Given the description of an element on the screen output the (x, y) to click on. 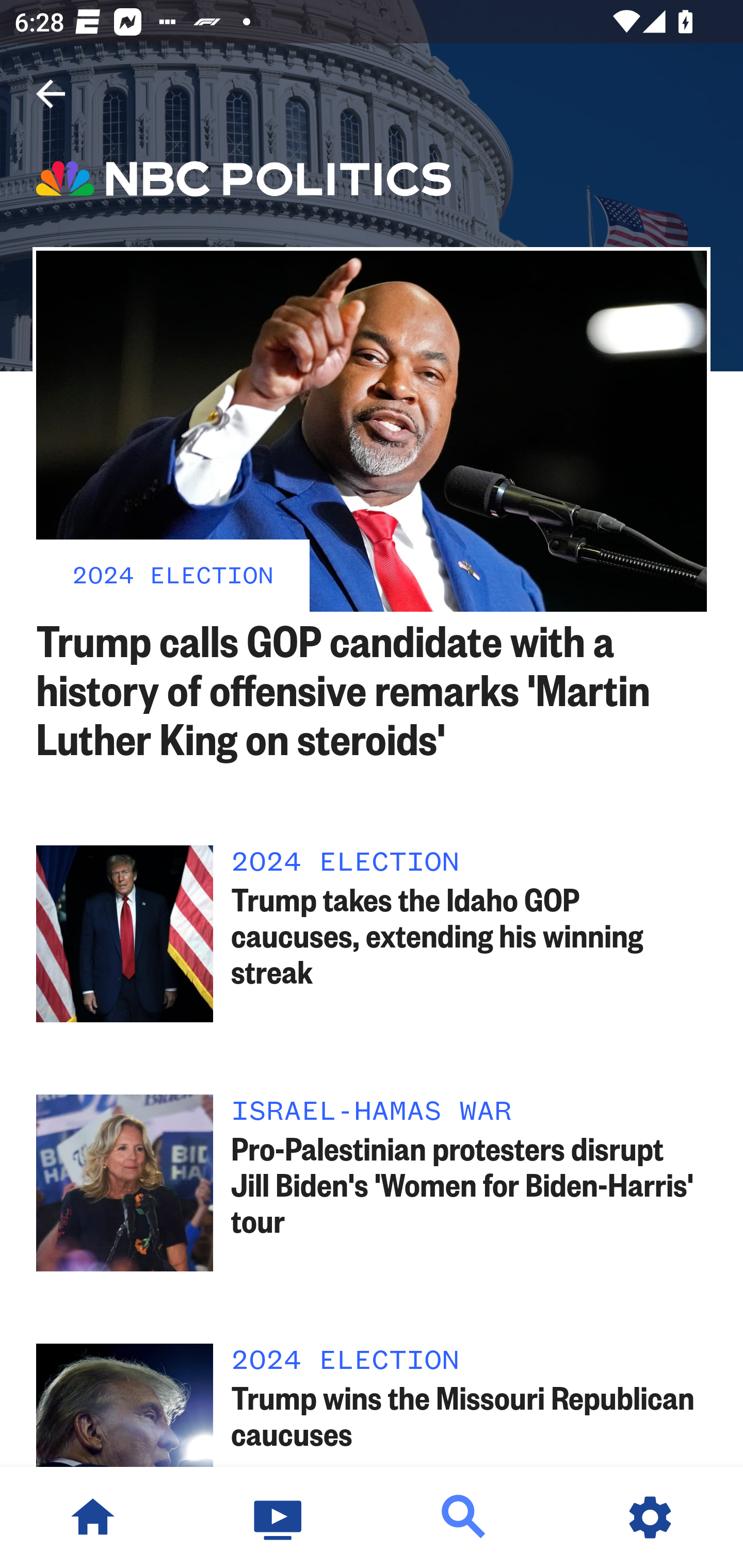
Navigate up (50, 93)
NBC News Home (92, 1517)
Watch (278, 1517)
Settings (650, 1517)
